Given the description of an element on the screen output the (x, y) to click on. 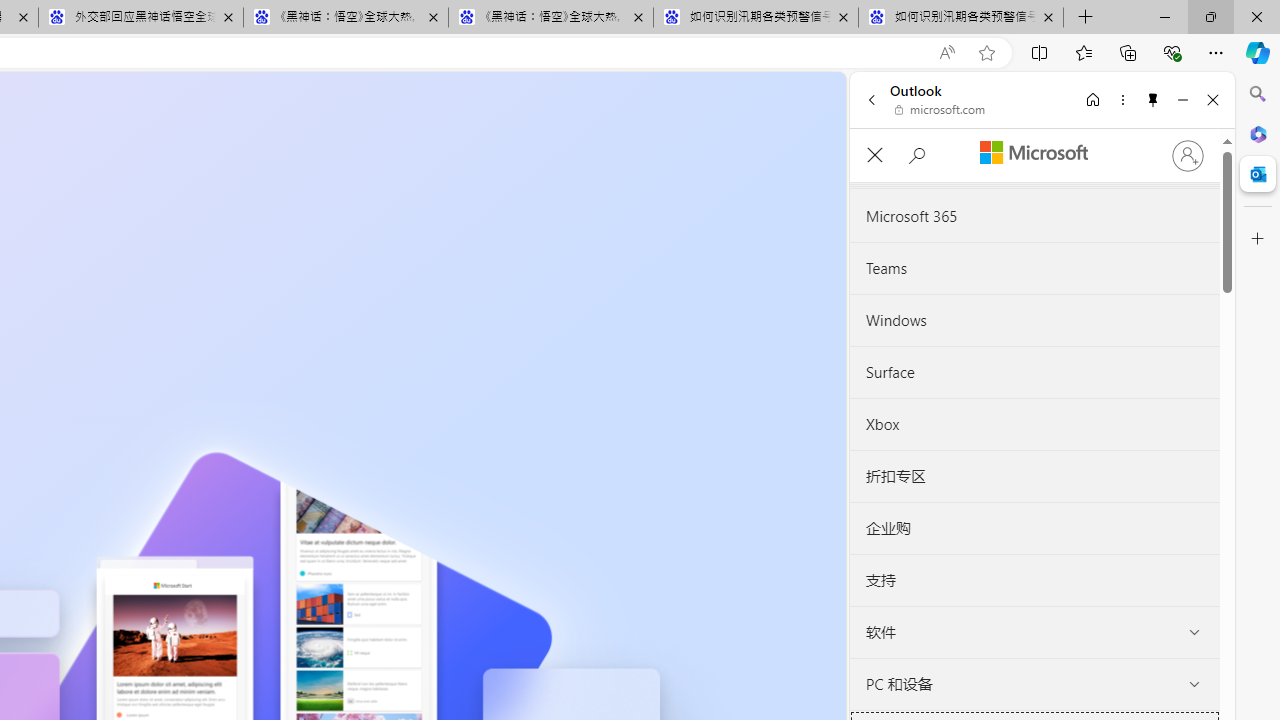
Teams (1034, 269)
Windows (1034, 321)
